Given the description of an element on the screen output the (x, y) to click on. 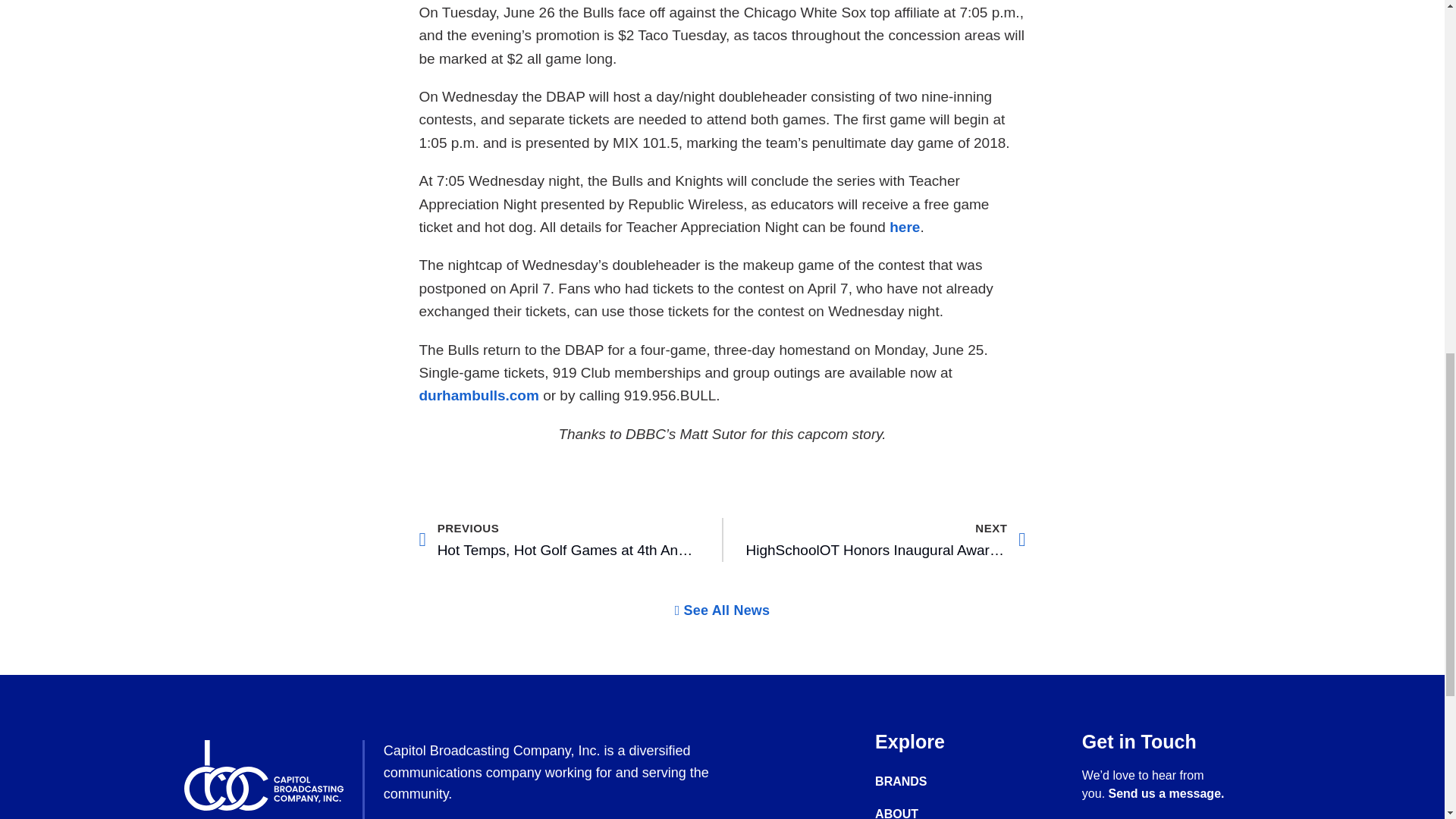
ABOUT (926, 812)
BRANDS (926, 781)
Send us a message. (1166, 793)
durhambulls.com (478, 395)
See All News (722, 610)
here (904, 227)
